Given the description of an element on the screen output the (x, y) to click on. 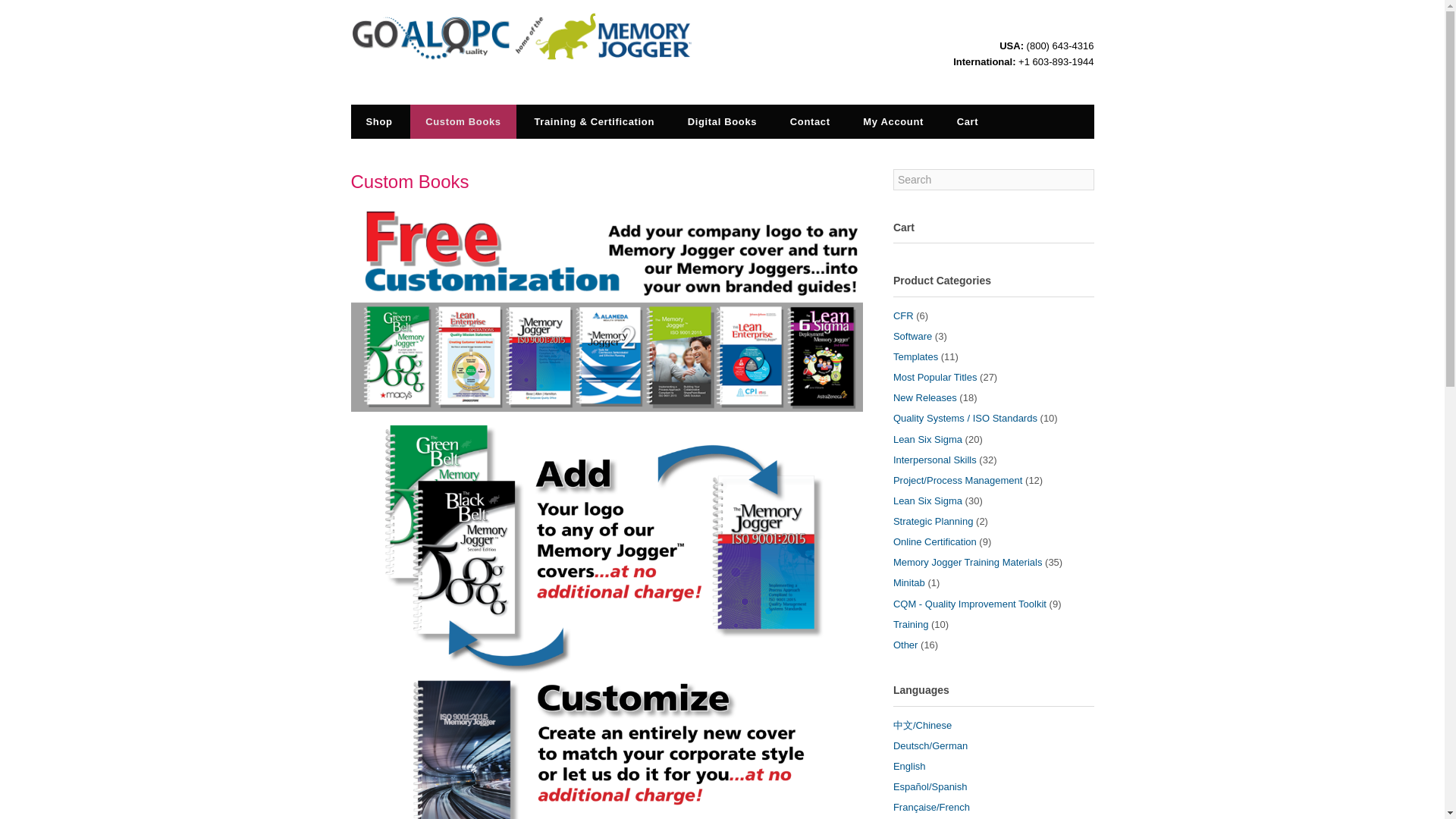
New Releases (924, 397)
Memory Jogger Training Materials (967, 562)
My Account (893, 121)
Online Certification (934, 541)
Minitab (908, 582)
Lean Six Sigma (927, 439)
Strategic Planning (933, 521)
Software (912, 336)
Lean Six Sigma (927, 500)
Custom Books (463, 121)
Digital Books (722, 121)
Cart (968, 121)
Contact (809, 121)
Training (910, 624)
Most Popular Titles (934, 377)
